Given the description of an element on the screen output the (x, y) to click on. 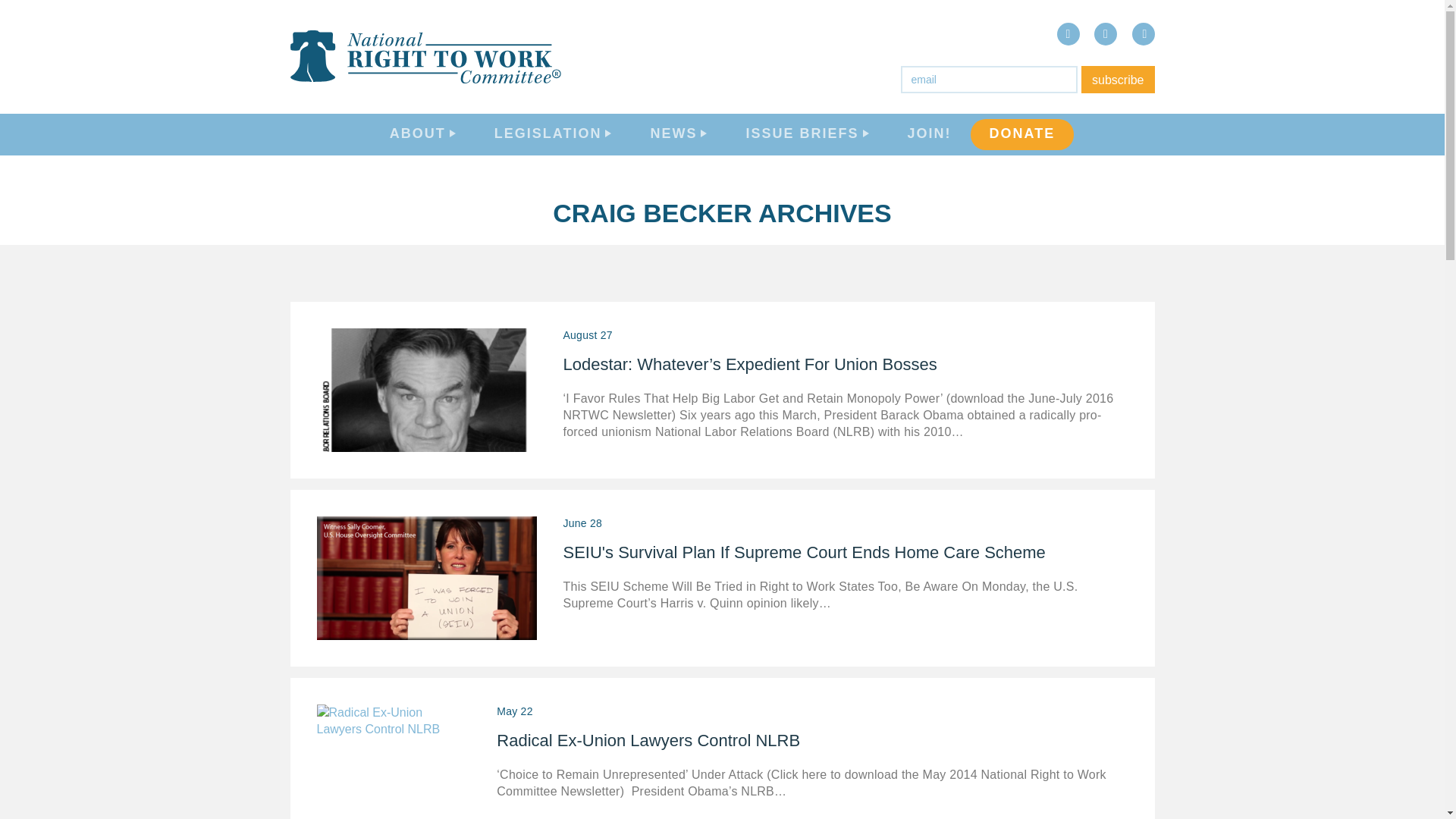
DONATE (1022, 134)
NRTWC.ORG NEWS POSTS (1323, 577)
NEWSLETTER (1301, 616)
Twitter (1105, 33)
NATIONAL RIGHT TO WORK ACT (1328, 690)
JOIN! (928, 134)
CONTACT US (1299, 292)
COSPONSORS OF THE NATIONAL RIGHT TO WORK ACT (1331, 484)
National Right to Work Committee (425, 56)
FREEDOM FROM UNION VIOLENCE (1316, 738)
